Given the description of an element on the screen output the (x, y) to click on. 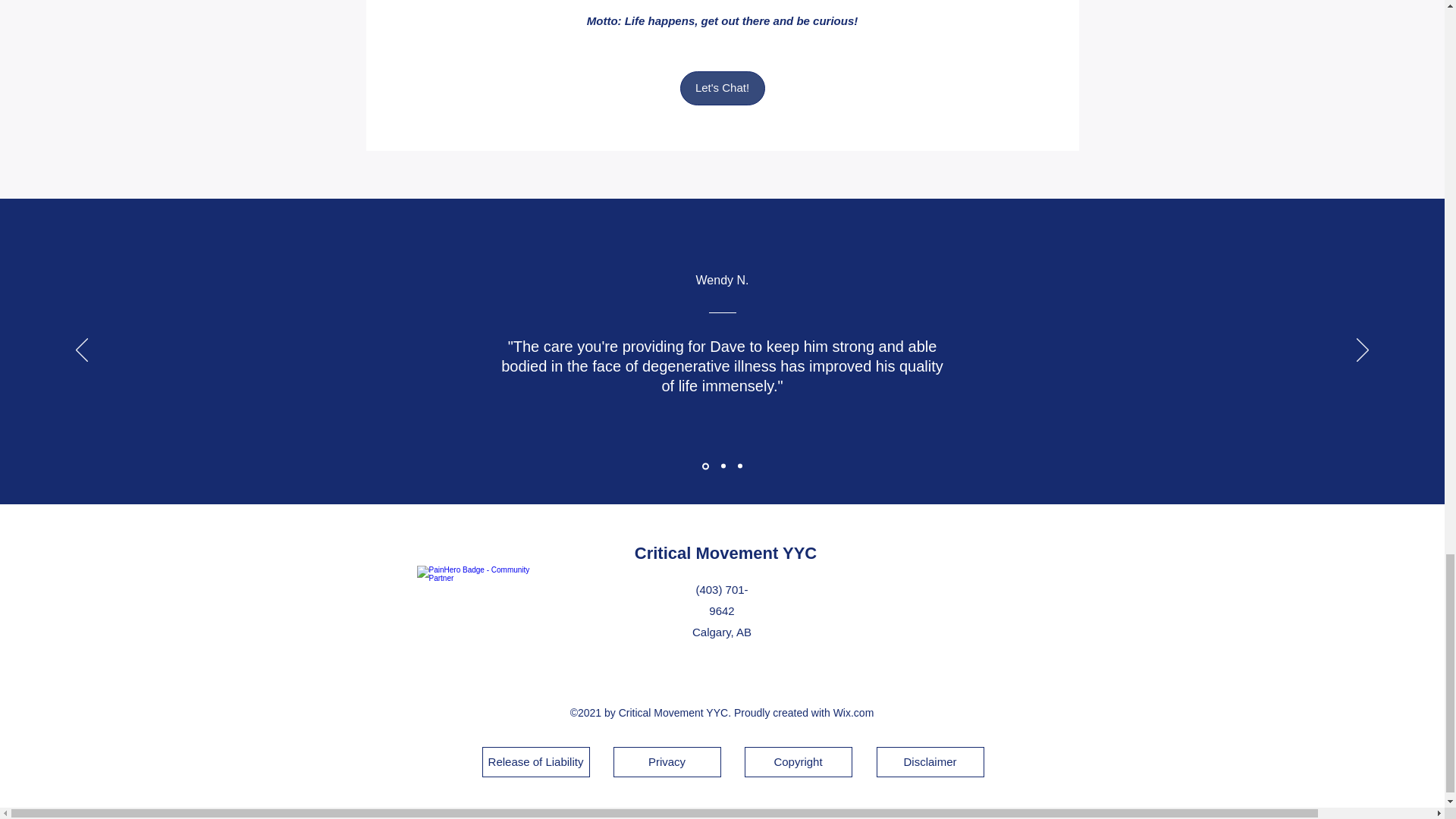
Let's Chat! (721, 88)
